Given the description of an element on the screen output the (x, y) to click on. 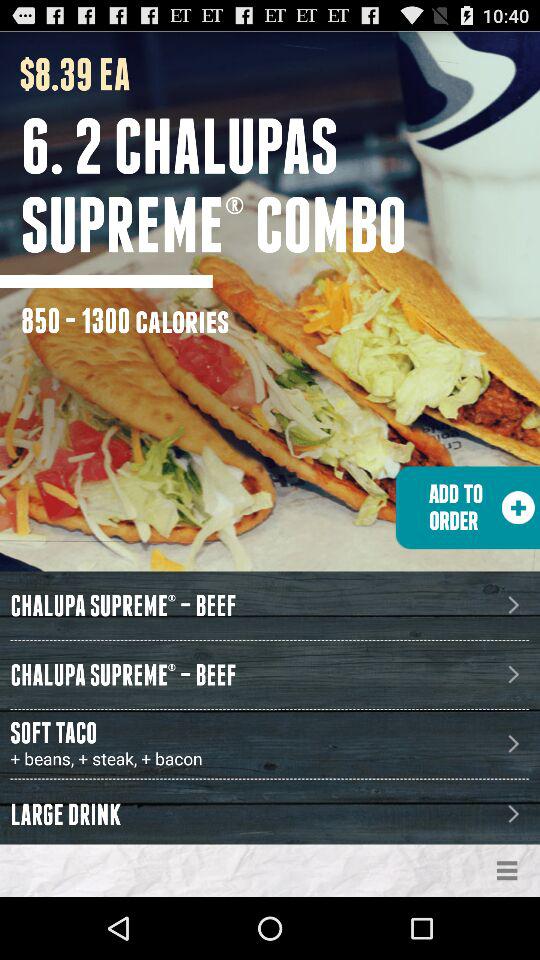
jump until the 6 2 chalupas icon (280, 185)
